Given the description of an element on the screen output the (x, y) to click on. 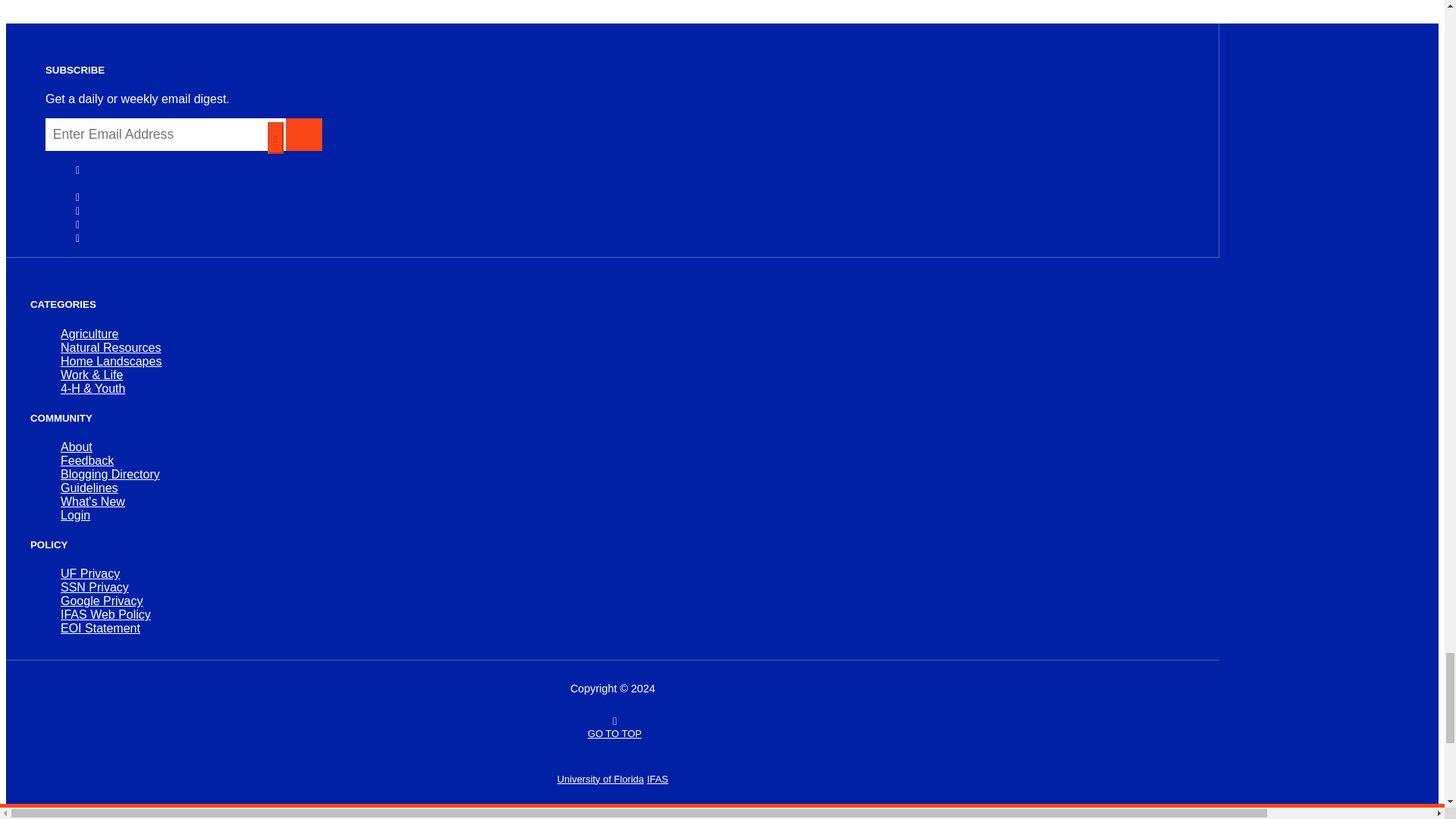
Enter Email Address (165, 133)
